Given the description of an element on the screen output the (x, y) to click on. 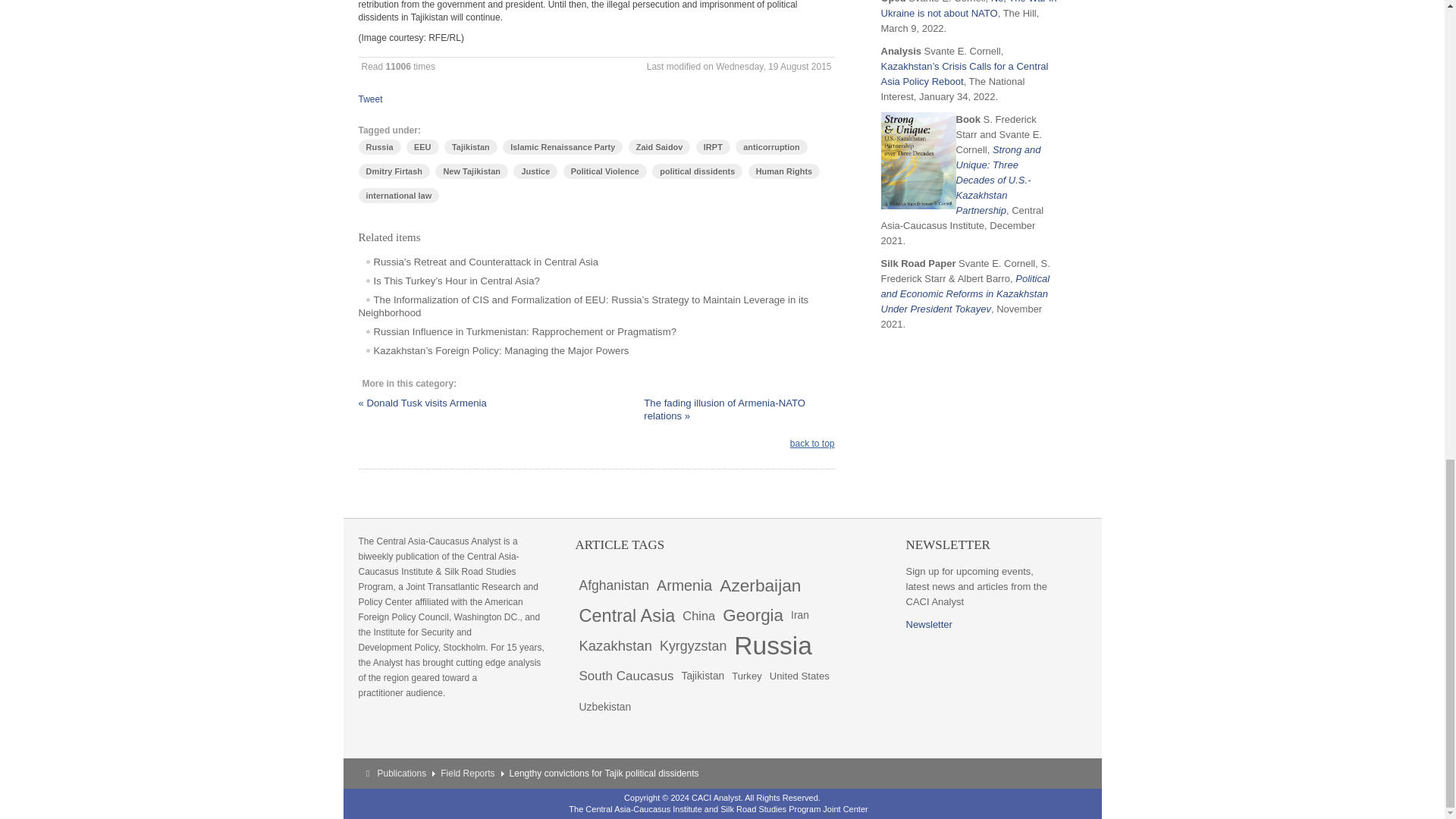
international law (398, 195)
Islamic Renaissance Party (562, 146)
Tajikistan (470, 146)
Human Rights (784, 171)
Zaid Saidov (659, 146)
102 items tagged with China (698, 615)
Political Violence (604, 171)
118 items tagged with Kyrgyzstan (693, 645)
139 items tagged with Armenia (684, 585)
EEU (422, 146)
Tweet (369, 99)
New Tajikistan (471, 171)
184 items tagged with Central Asia (626, 615)
anticorruption (771, 146)
